Given the description of an element on the screen output the (x, y) to click on. 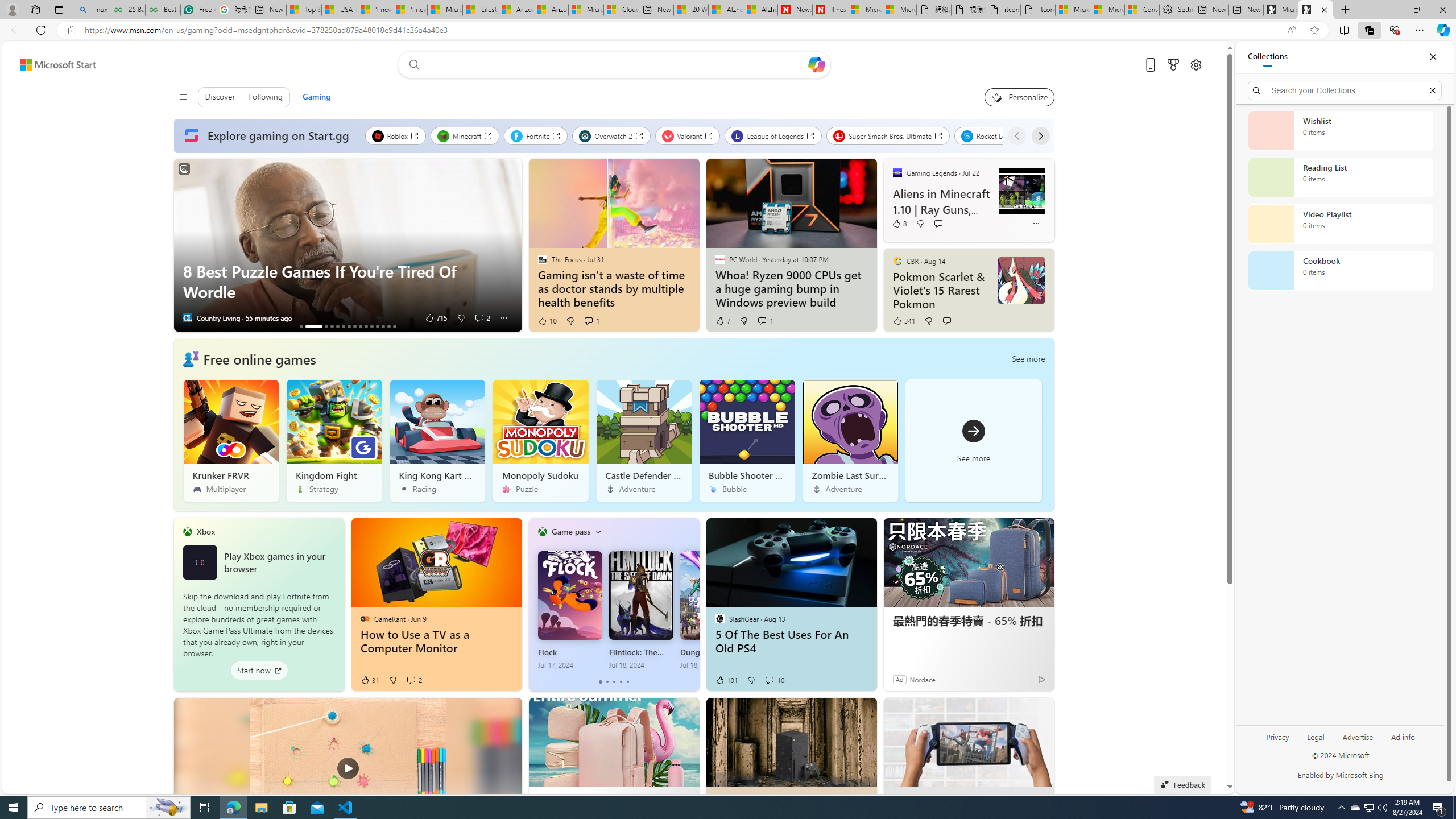
tab-0 (600, 682)
View comments 1 Comment (762, 320)
Cookbook collection, 0 items (1339, 270)
Minecraft (464, 135)
Country Living (187, 317)
Previous slide (181, 245)
AutomationID: tab_nativead-resinfopane-6 (342, 326)
Class: next-flipper (693, 604)
